Given the description of an element on the screen output the (x, y) to click on. 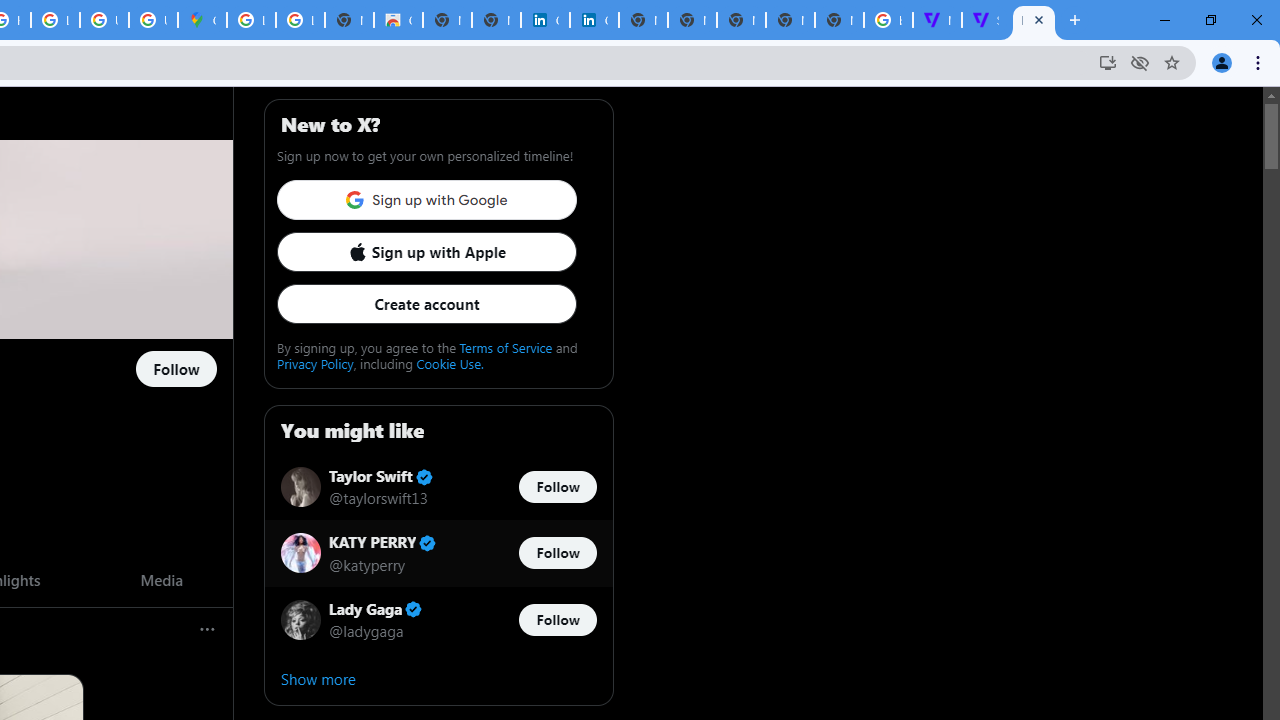
Follow @taylorswift13 (557, 486)
Sign up with Google (426, 200)
Sign up with Apple (426, 251)
Install X (1107, 62)
Cookie Policy | LinkedIn (545, 20)
KATY PERRY Verified account (382, 543)
More (207, 629)
Miley Cyrus (@MileyCyrus) / X (1033, 20)
